Given the description of an element on the screen output the (x, y) to click on. 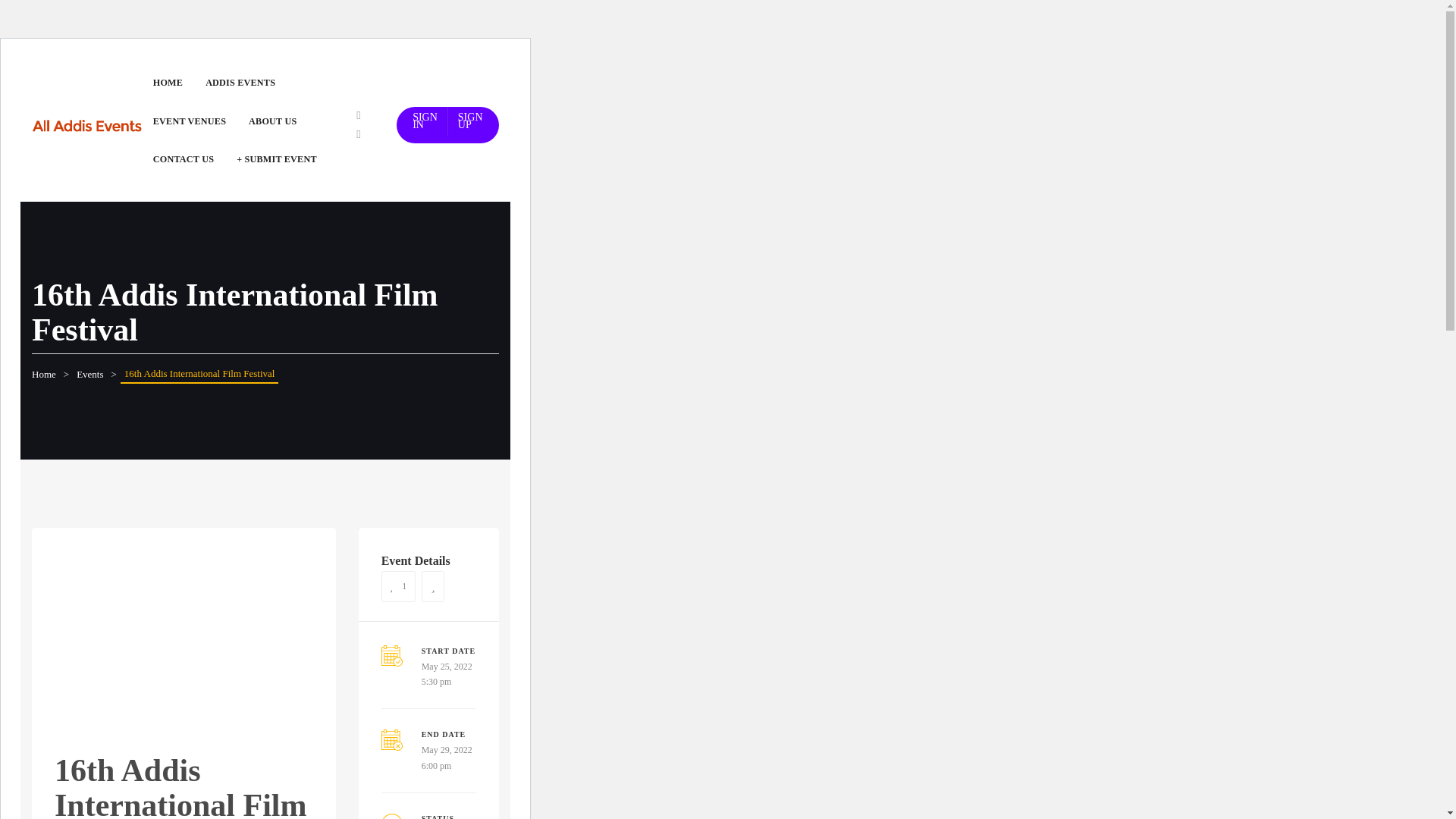
CONTACT US (183, 159)
EVENT VENUES (189, 121)
HOME (167, 82)
ADDIS EVENTS (239, 82)
SIGN IN (424, 121)
Events (90, 374)
SIGN UP (470, 121)
Home (44, 374)
ABOUT US (272, 121)
